Given the description of an element on the screen output the (x, y) to click on. 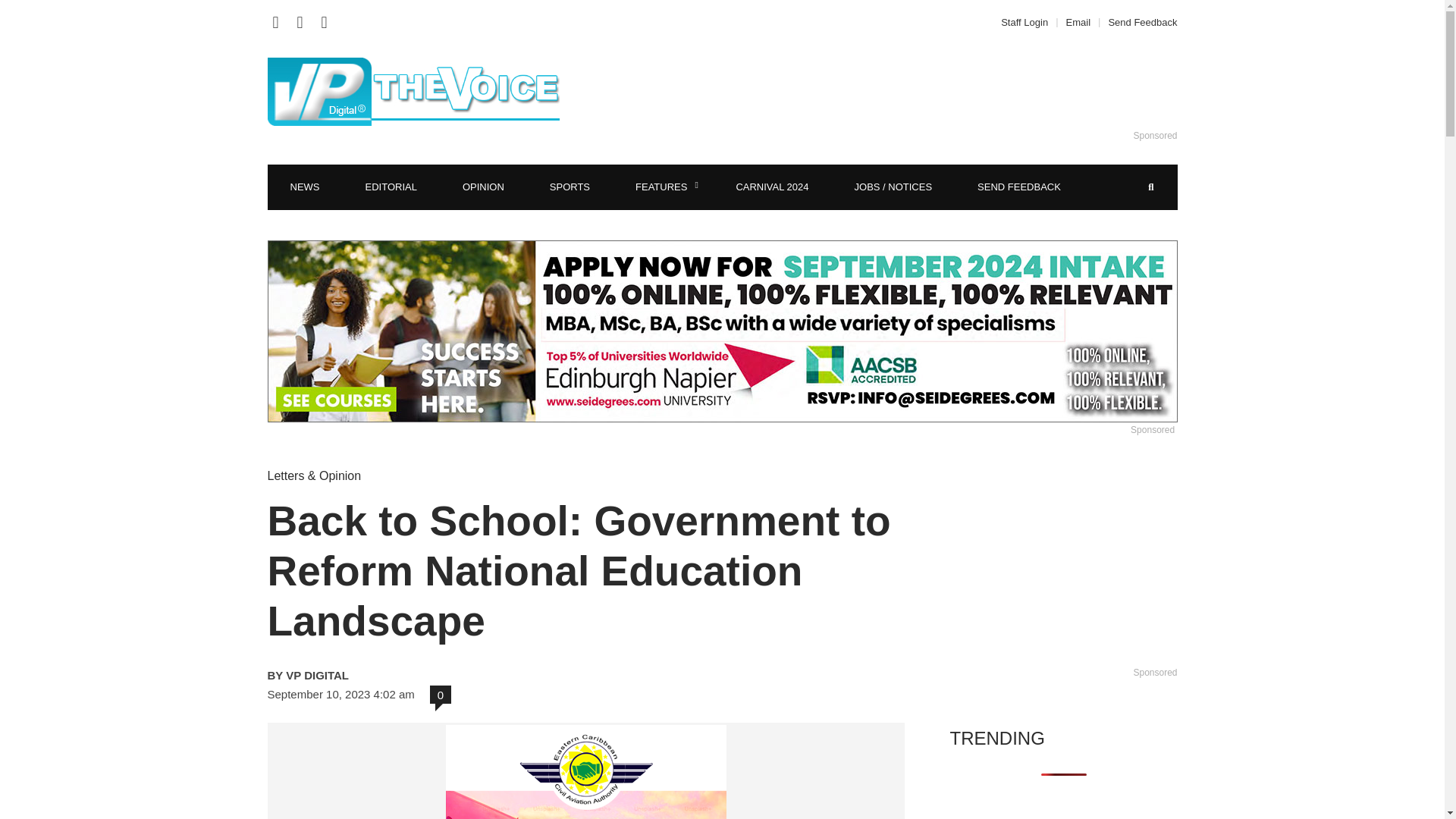
Send Feedback (1138, 21)
SEND FEEDBACK (1019, 186)
NEWS (304, 186)
SPORTS (569, 186)
OPINION (483, 186)
Email (1078, 21)
CARNIVAL 2024 (772, 186)
View all posts by VP Digital (422, 675)
FEATURES (662, 186)
VP DIGITAL (422, 675)
EDITORIAL (390, 186)
Staff Login (1028, 21)
